Given the description of an element on the screen output the (x, y) to click on. 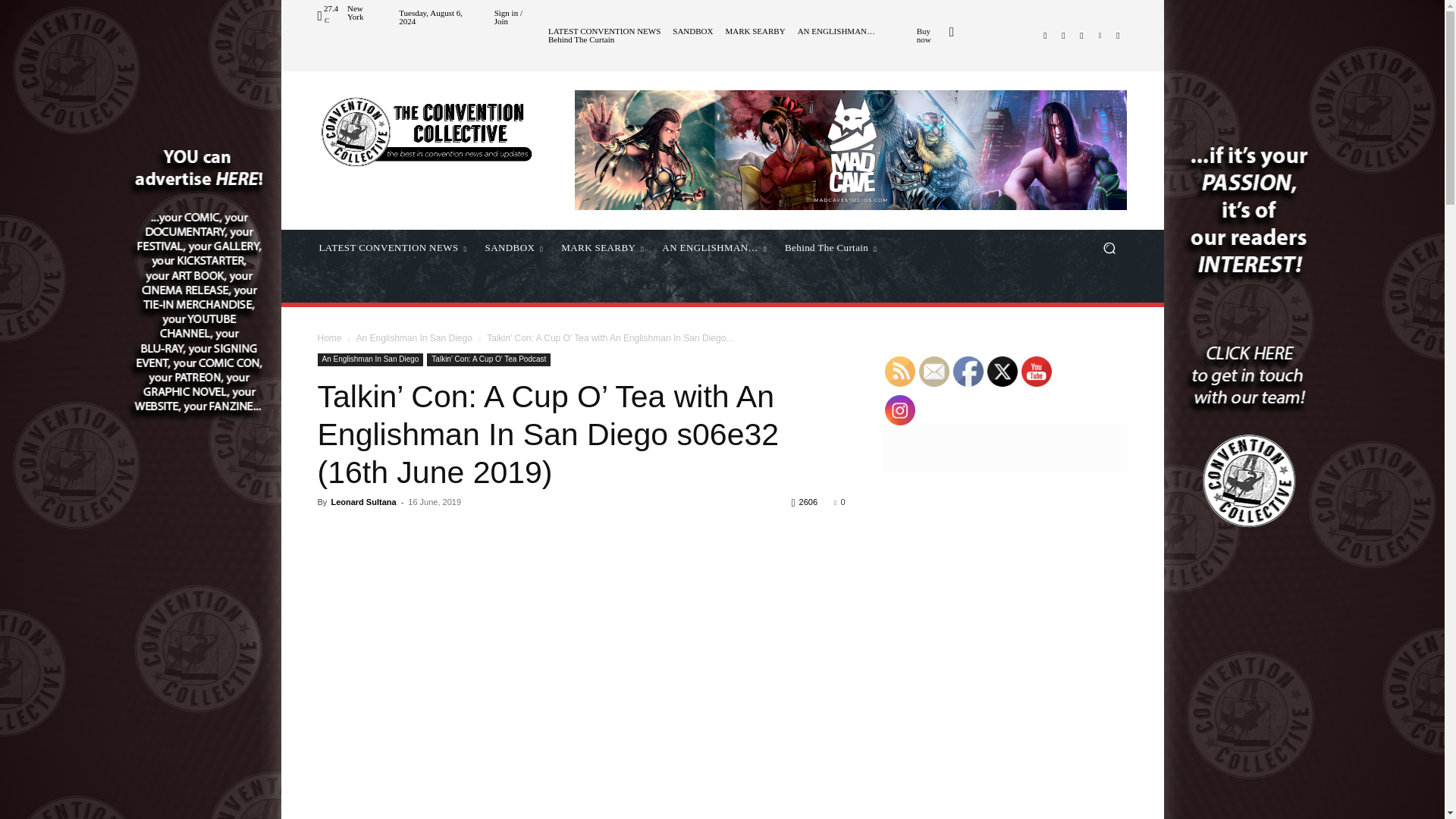
Mad Cave Studios featured (850, 149)
Vimeo (1099, 35)
Instagram (1062, 35)
Youtube (1117, 35)
SANDBOX (692, 31)
LATEST CONVENTION NEWS (604, 31)
Twitter (1080, 35)
Facebook (1044, 35)
